Given the description of an element on the screen output the (x, y) to click on. 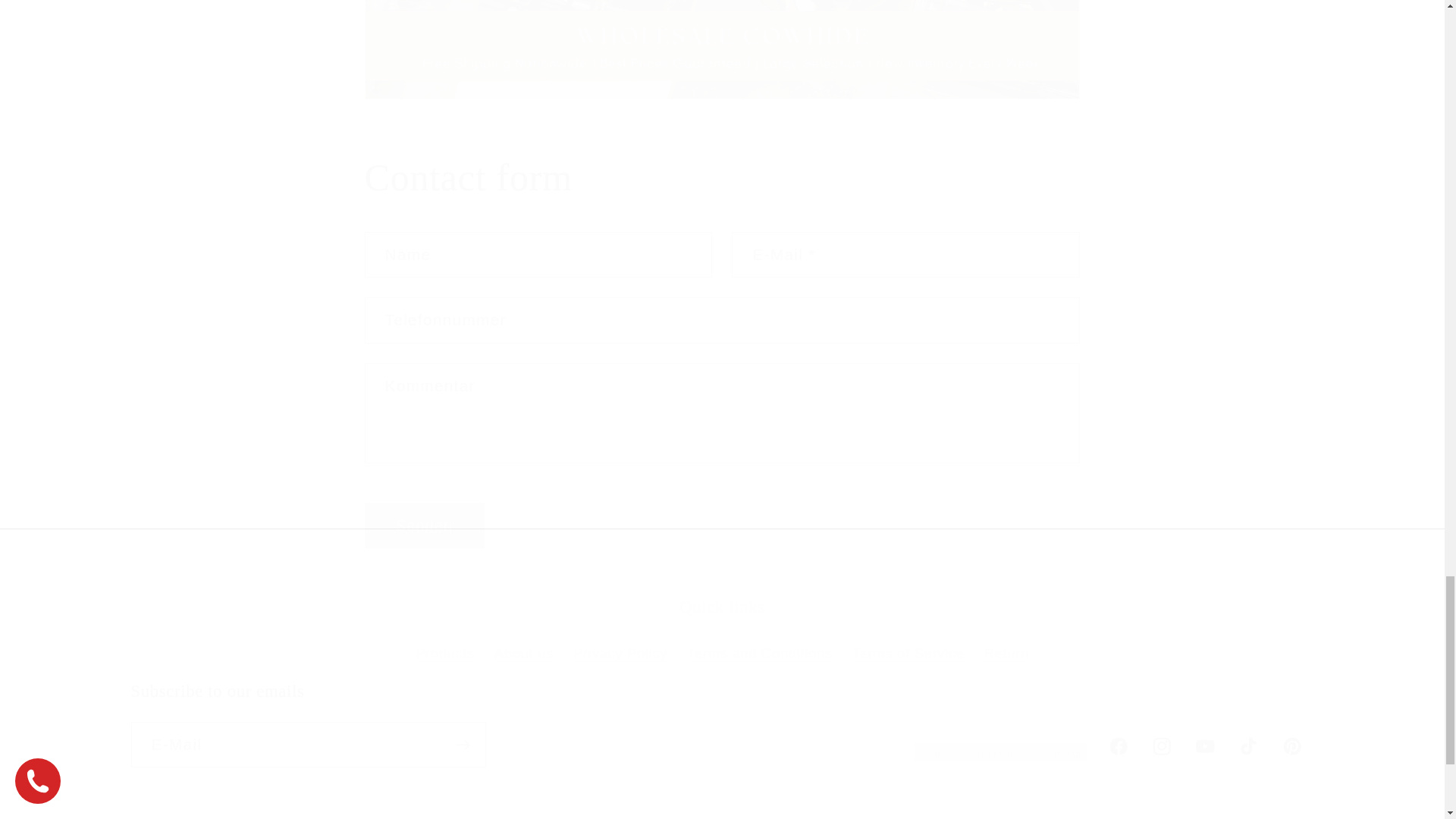
Contact form (722, 177)
